Given the description of an element on the screen output the (x, y) to click on. 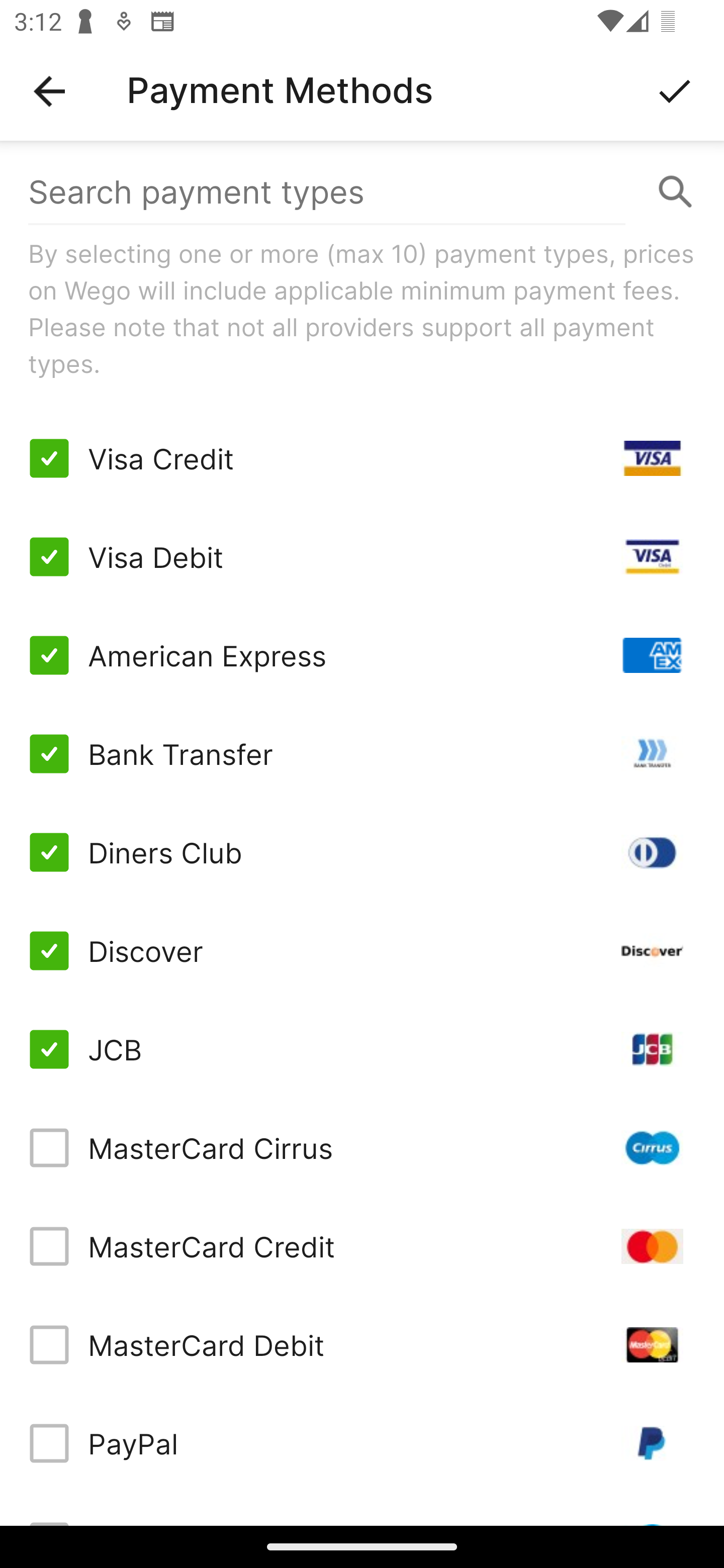
Search payment types  (361, 191)
Visa Credit (362, 458)
Visa Debit (362, 557)
American Express (362, 655)
Bank Transfer (362, 753)
Diners Club (362, 851)
Discover (362, 950)
JCB (362, 1049)
MasterCard Cirrus (362, 1147)
MasterCard Credit (362, 1245)
MasterCard Debit (362, 1344)
PayPal (362, 1442)
